Given the description of an element on the screen output the (x, y) to click on. 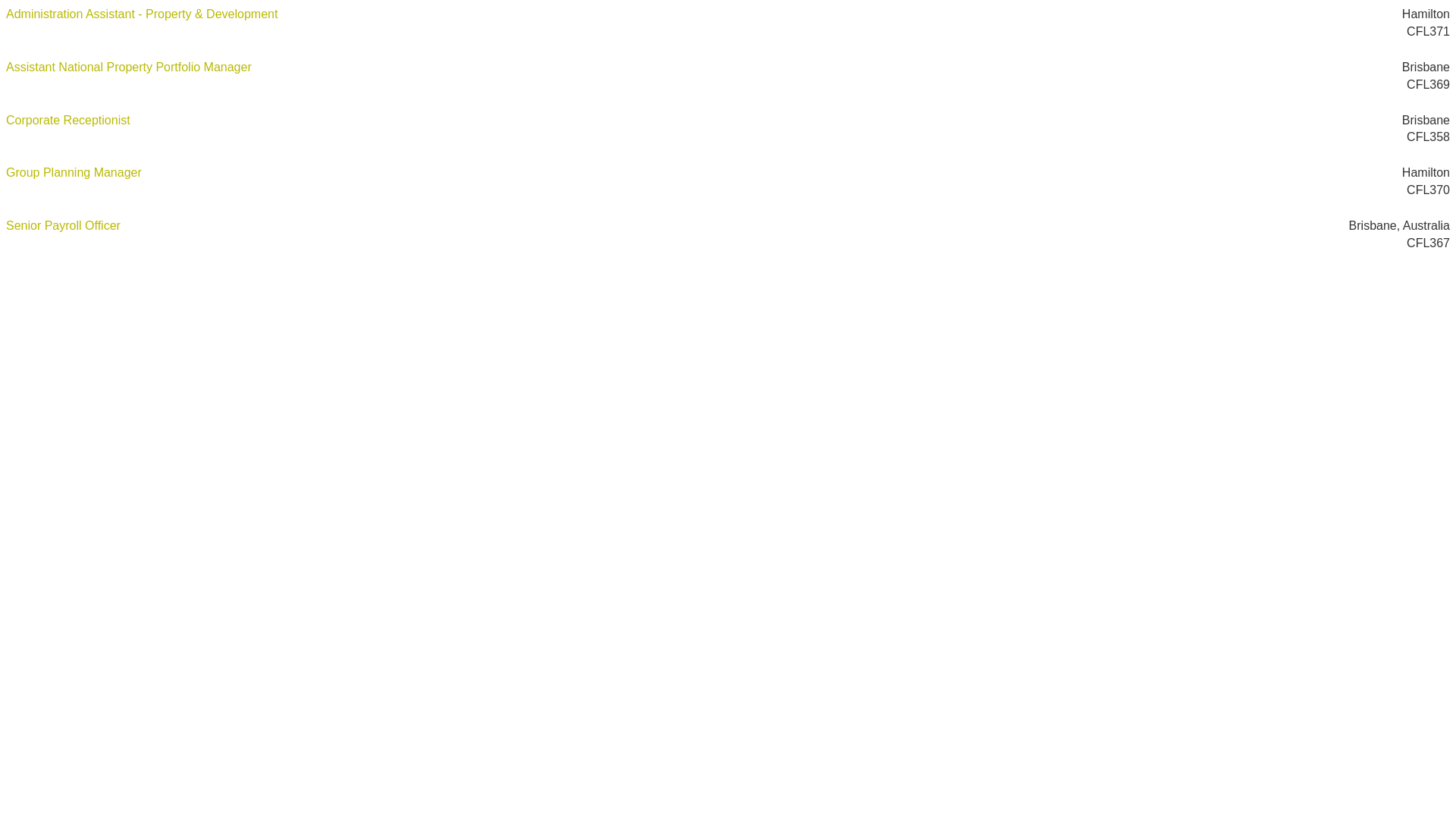
Group Planning Manager Element type: text (73, 174)
Corporate Receptionist Element type: text (68, 121)
Assistant National Property Portfolio Manager Element type: text (128, 68)
Administration Assistant - Property & Development Element type: text (141, 15)
Senior Payroll Officer Element type: text (63, 227)
